Given the description of an element on the screen output the (x, y) to click on. 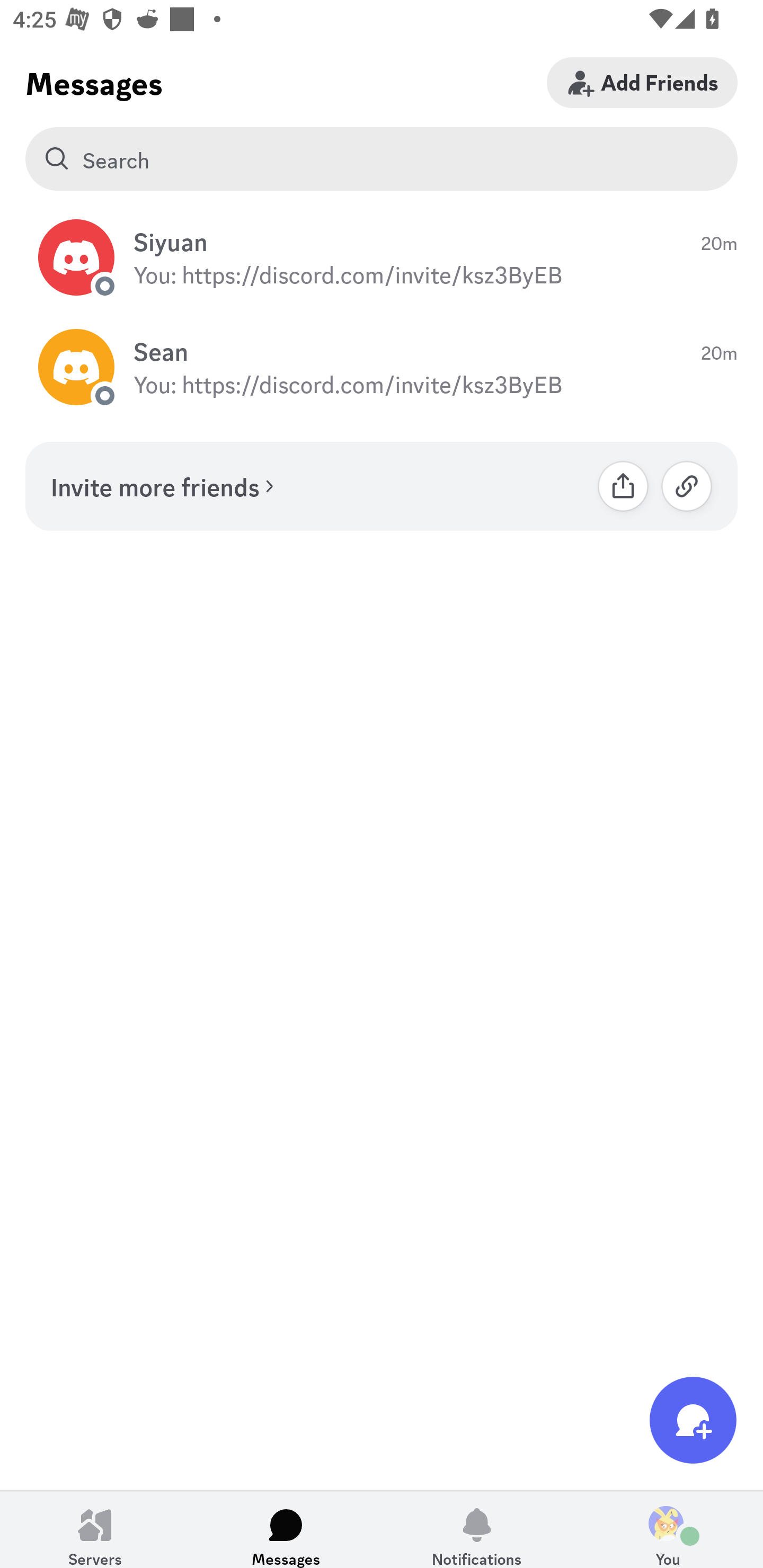
Add Friends (642, 82)
Search (381, 159)
Share Link (622, 485)
Copy Link (686, 485)
New Message (692, 1419)
Servers (95, 1529)
Messages (285, 1529)
Notifications (476, 1529)
You (667, 1529)
